Given the description of an element on the screen output the (x, y) to click on. 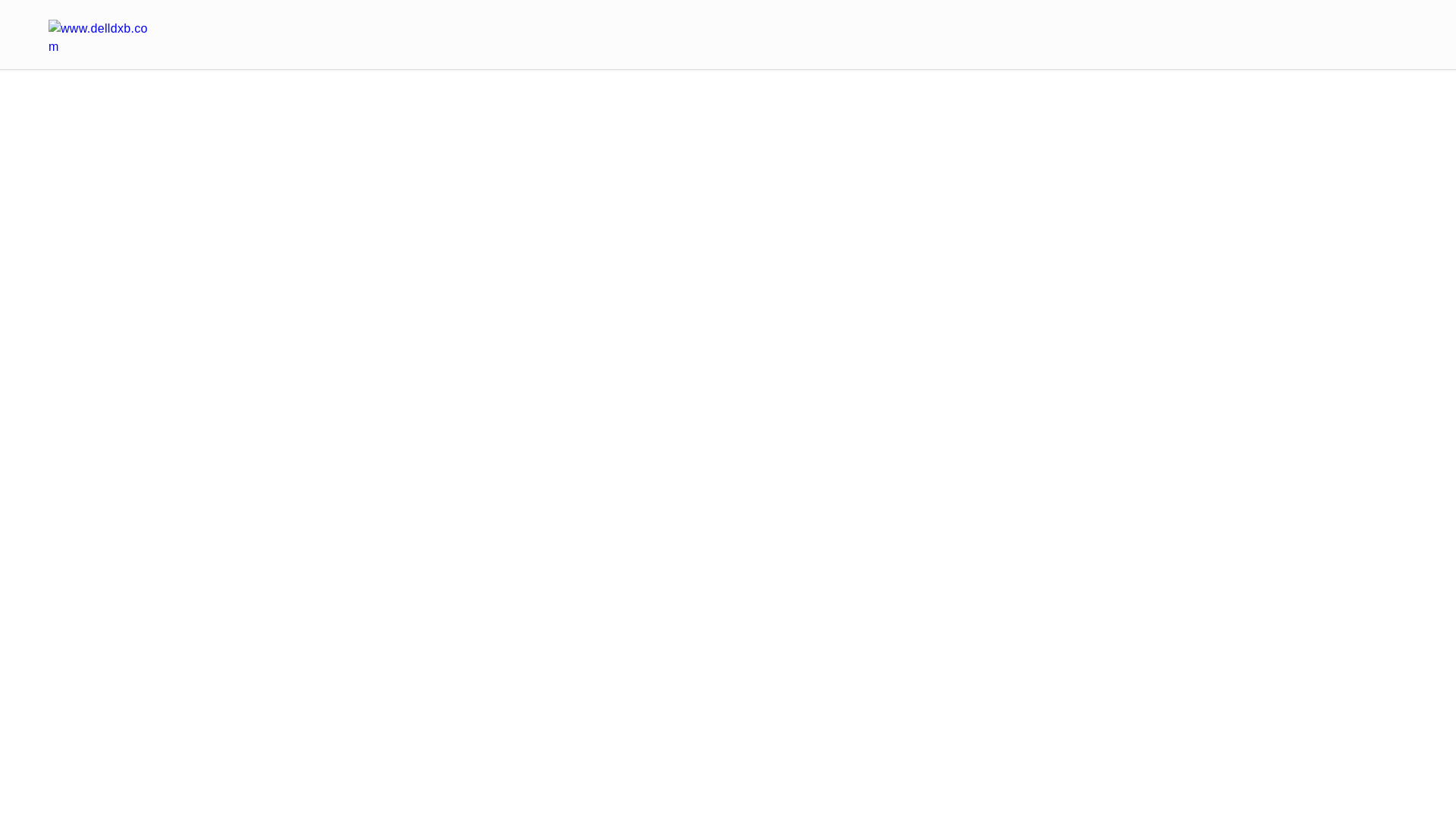
Skip to content (64, 21)
